Given the description of an element on the screen output the (x, y) to click on. 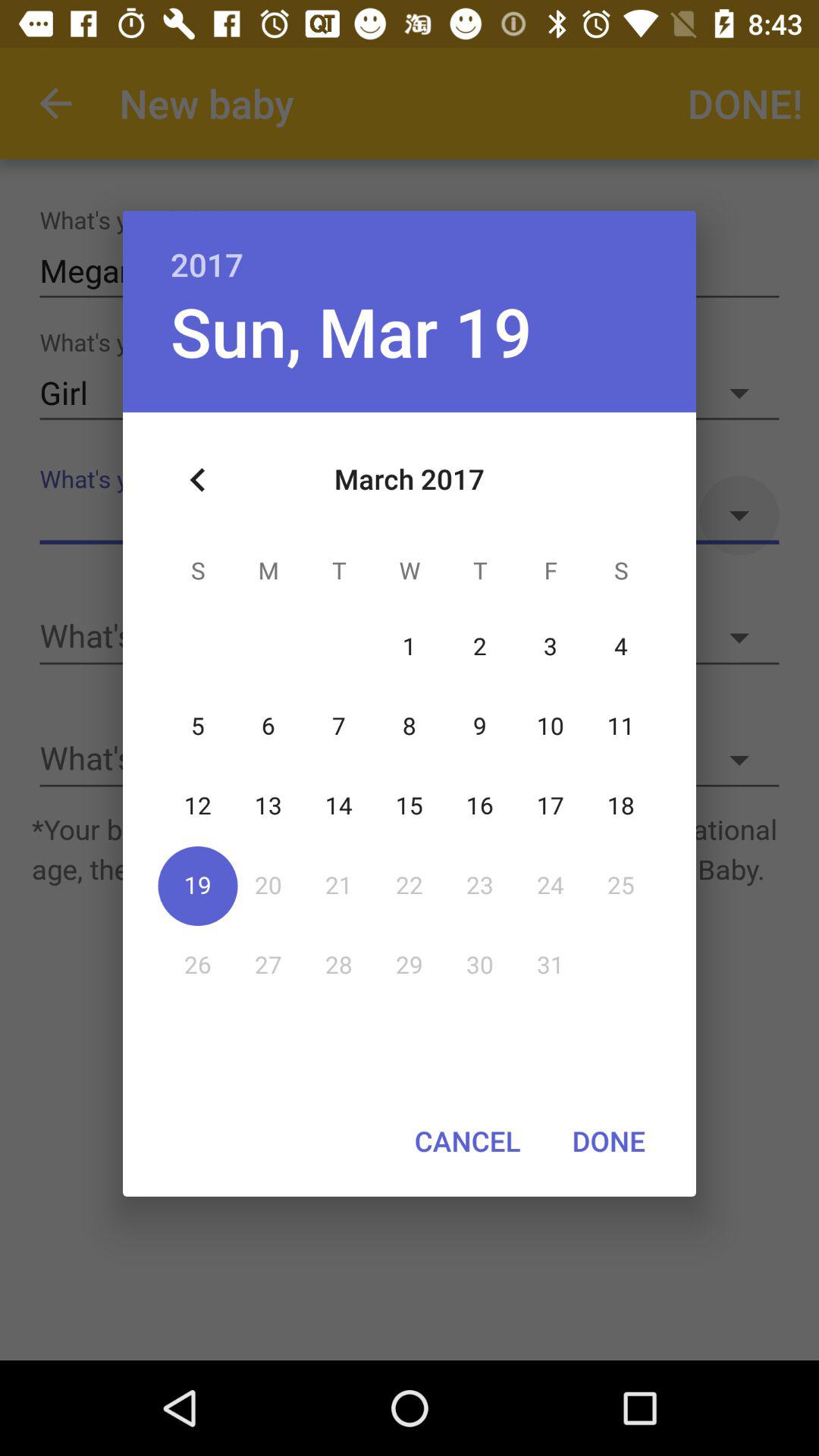
choose the 2017 item (409, 248)
